Given the description of an element on the screen output the (x, y) to click on. 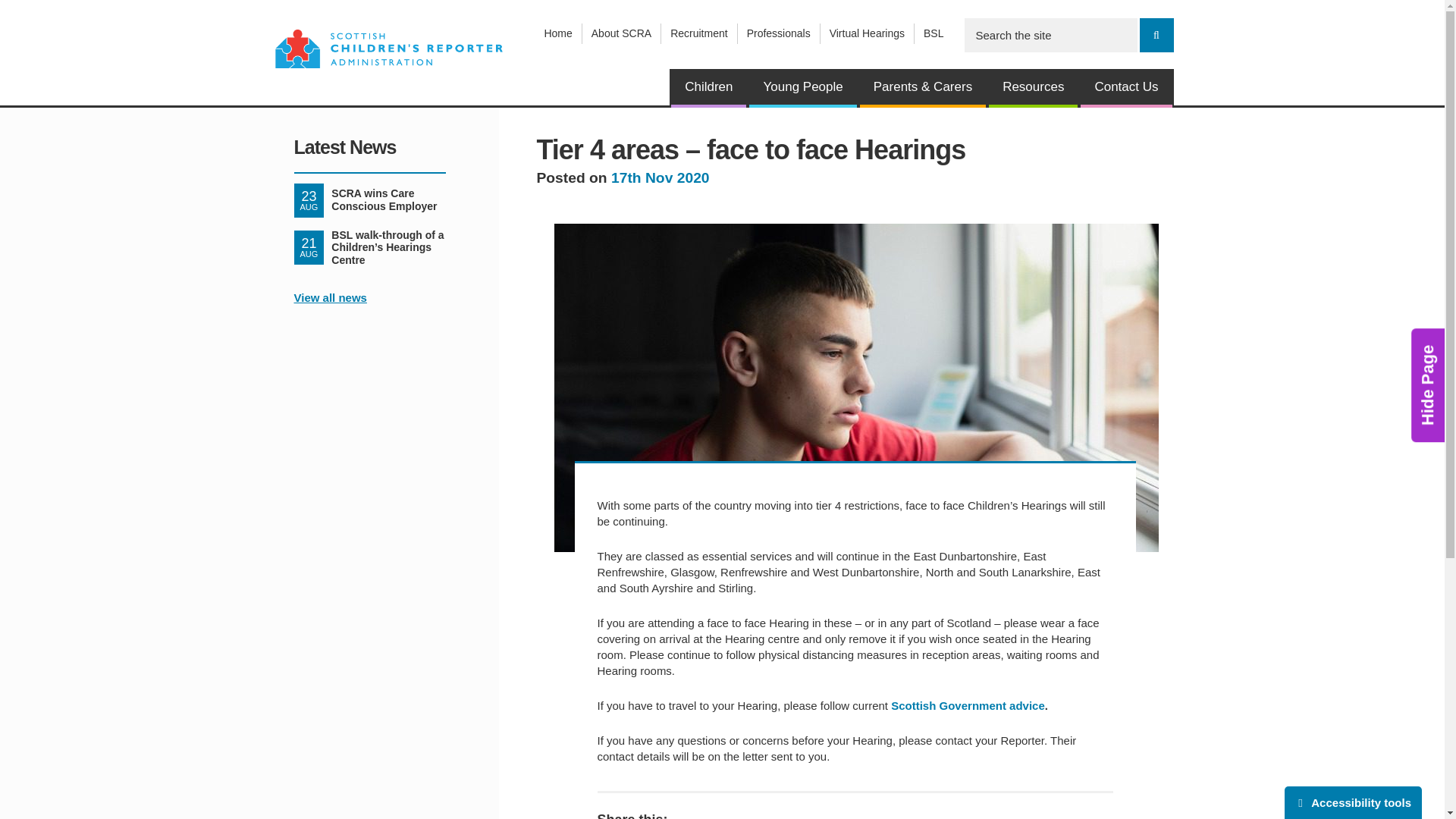
Children (708, 87)
About SCRA (369, 200)
View all news (621, 33)
Accessibility tools (330, 297)
Young People (1353, 802)
Resources (802, 87)
Home (1032, 87)
Contact Us (557, 33)
Scottish Government advice (1126, 87)
